Given the description of an element on the screen output the (x, y) to click on. 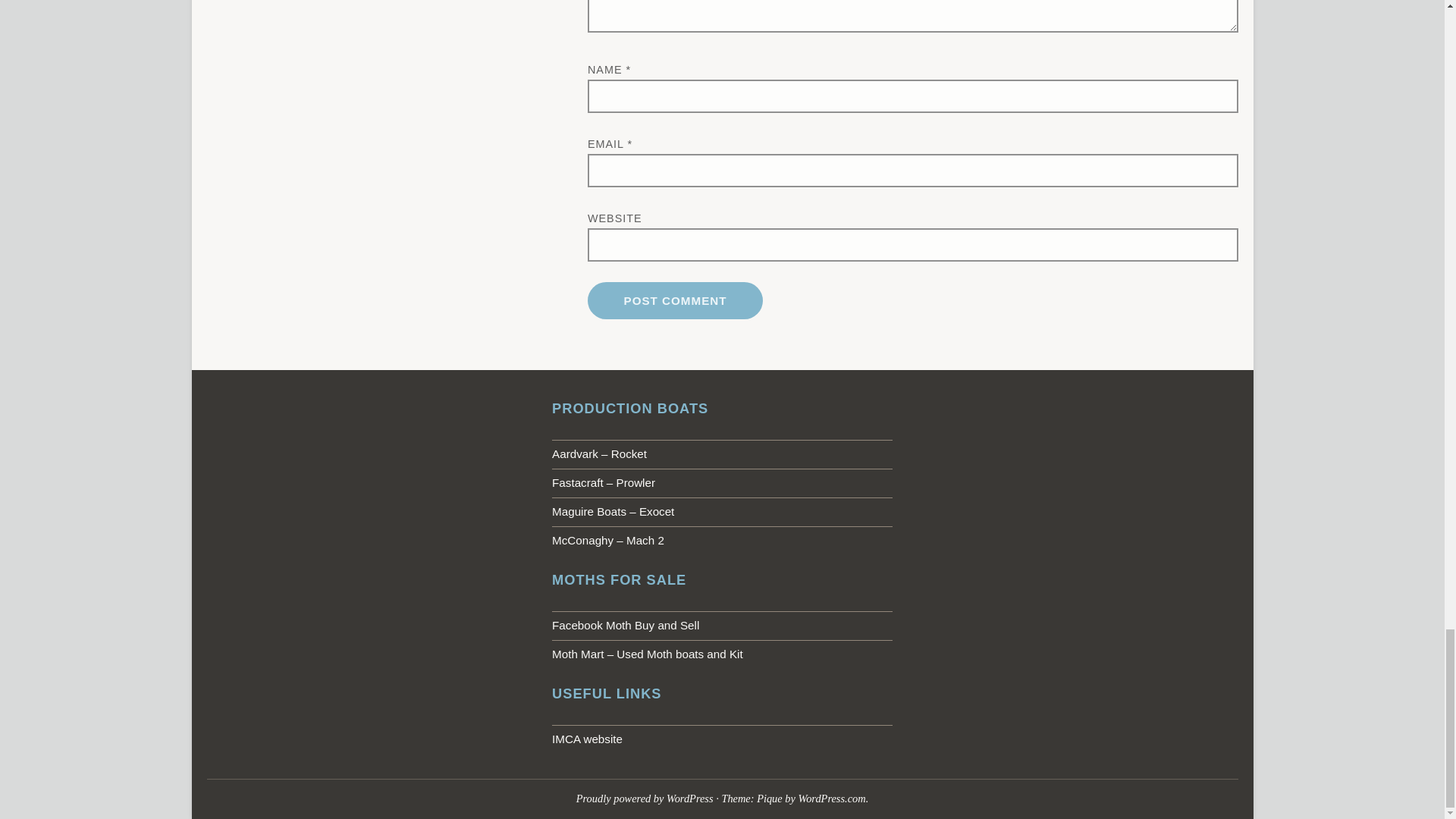
UK Boat Builder of the Rocket (721, 453)
Mach 2 moth website (721, 540)
Used Moths and equipment (721, 654)
Post Comment (675, 300)
Post Comment (675, 300)
Prowler Moth from John Illet (721, 482)
Used Moth boats and equipment for sale (721, 624)
Maguire Boats (721, 511)
